Given the description of an element on the screen output the (x, y) to click on. 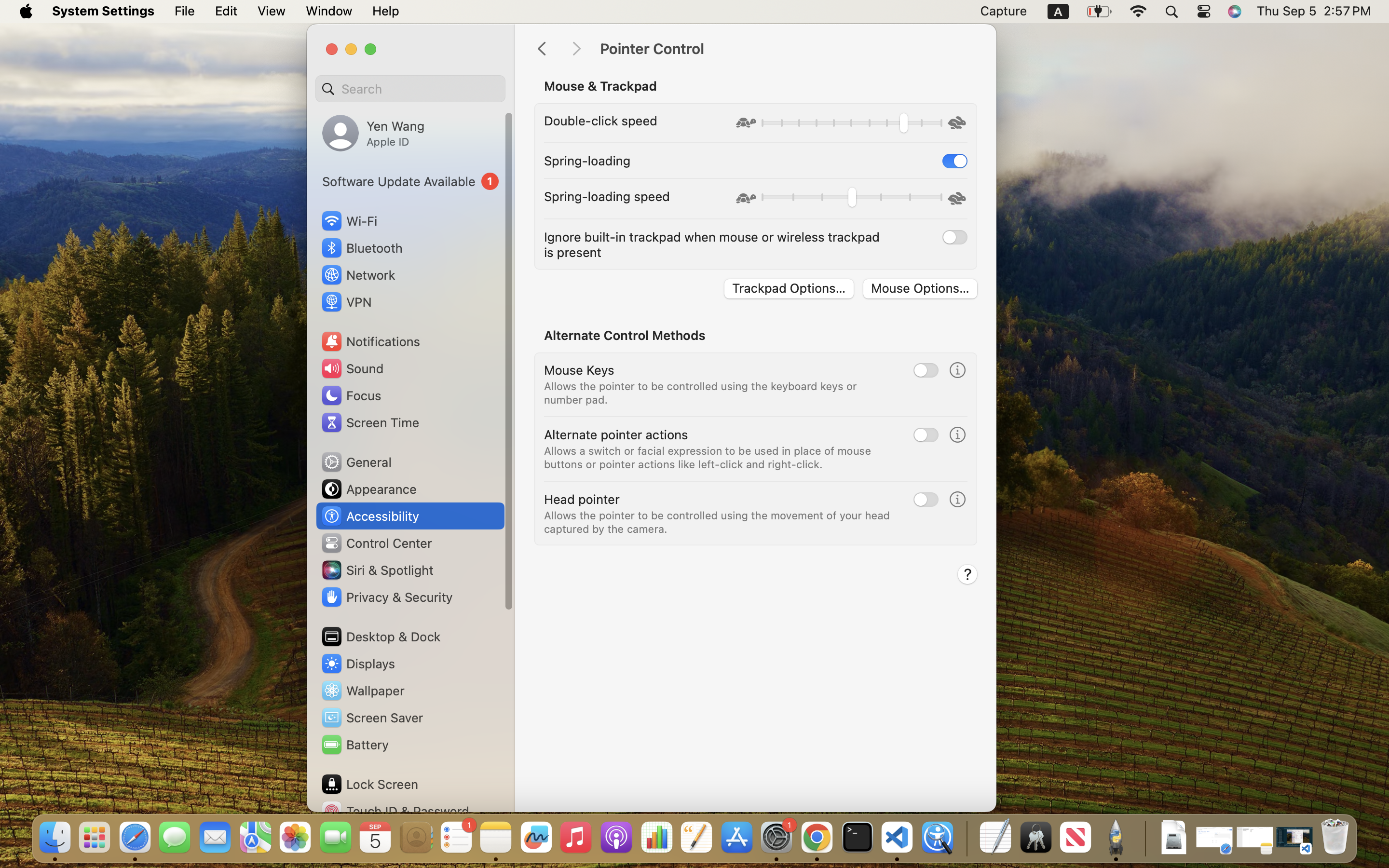
Spring-loading speed Element type: AXStaticText (607, 195)
Desktop & Dock Element type: AXStaticText (380, 636)
Alternate pointer actions Element type: AXStaticText (615, 433)
Siri & Spotlight Element type: AXStaticText (376, 569)
